Given the description of an element on the screen output the (x, y) to click on. 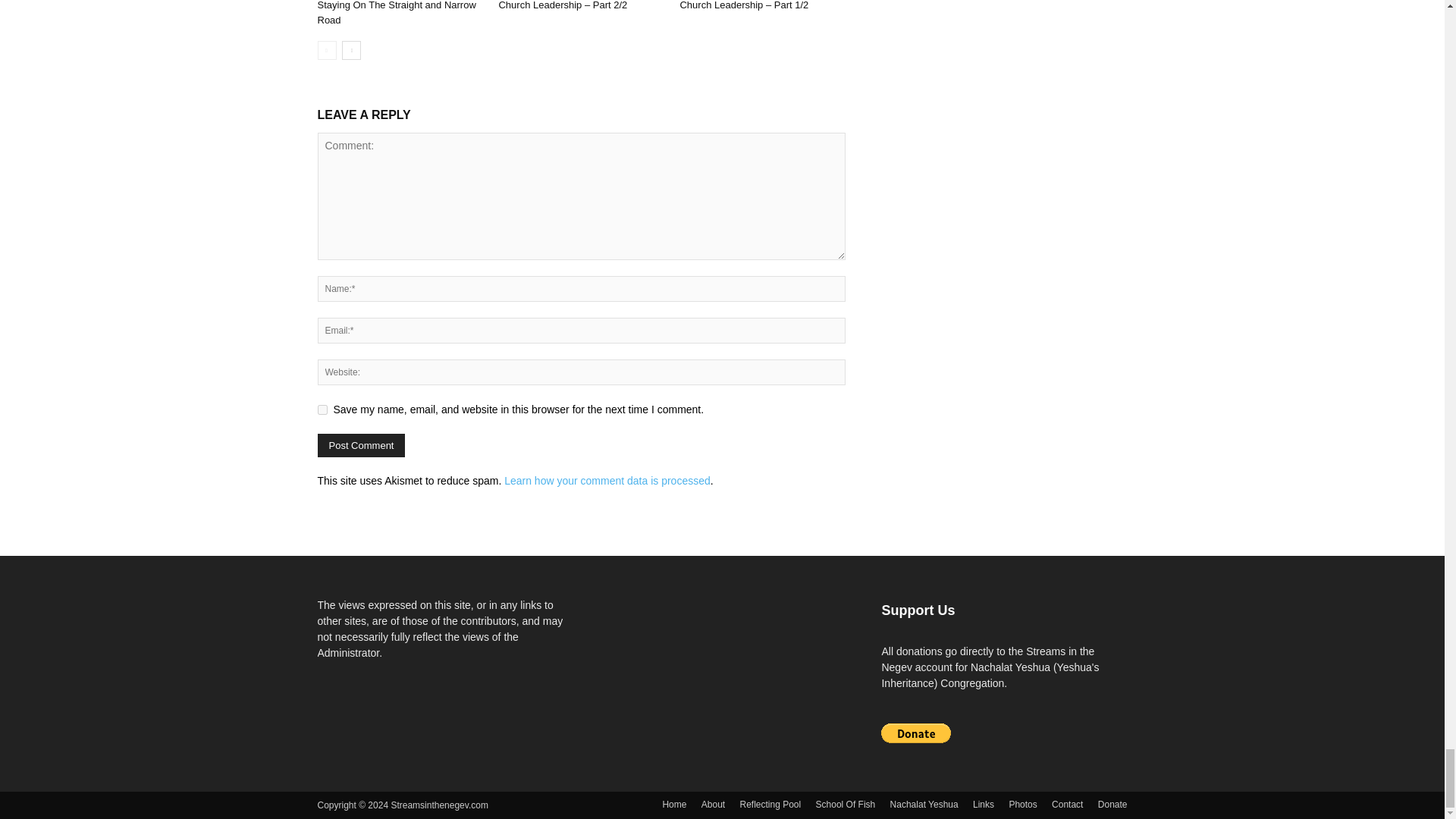
Staying On The Straight and Narrow Road (396, 12)
Post Comment (360, 445)
yes (321, 409)
